Given the description of an element on the screen output the (x, y) to click on. 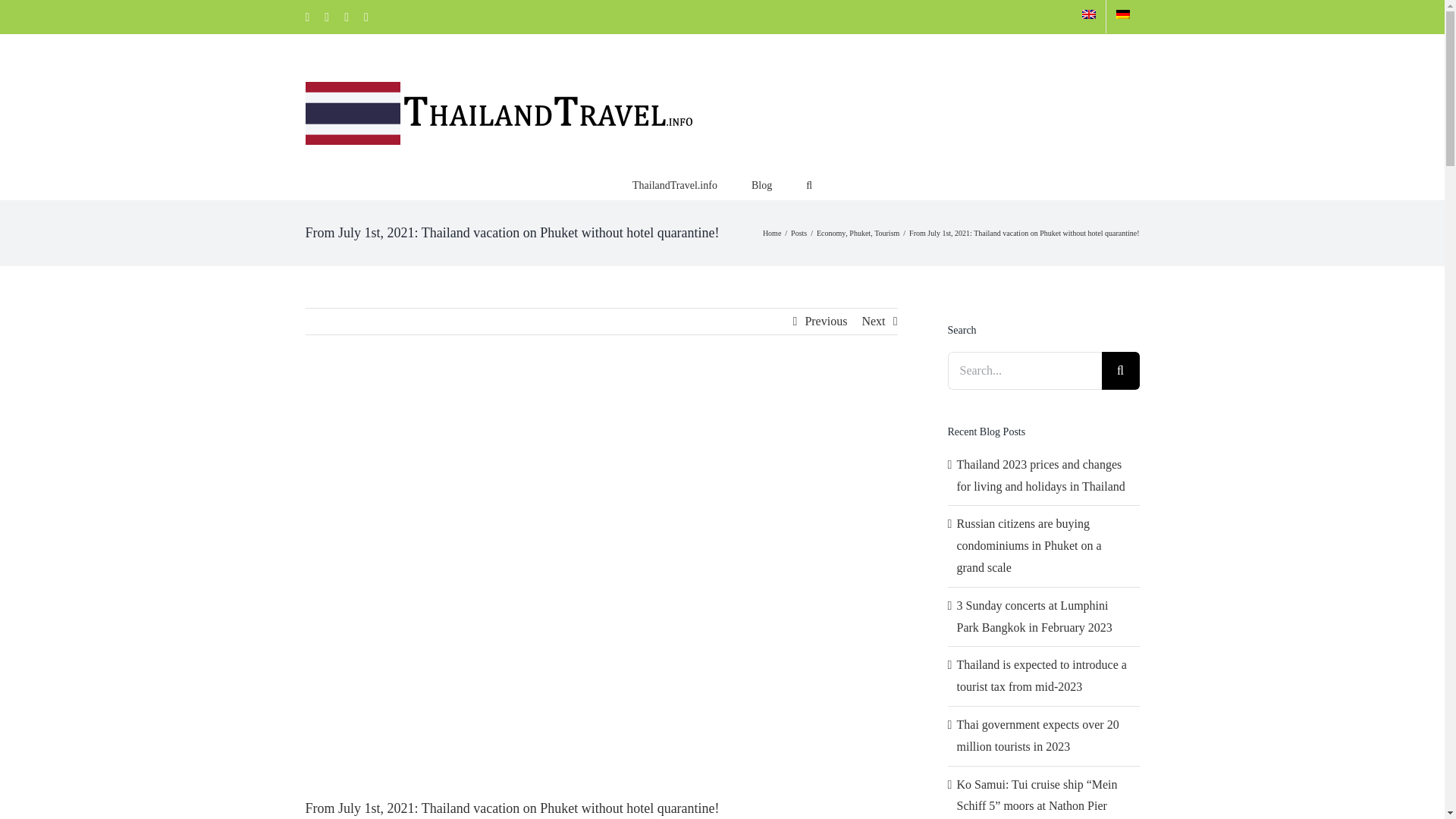
Previous (826, 321)
Posts (798, 233)
Phuket (859, 233)
Economy (830, 233)
ThailandTravel.info (674, 183)
Tourism (887, 233)
Next (873, 321)
Home (771, 233)
